Given the description of an element on the screen output the (x, y) to click on. 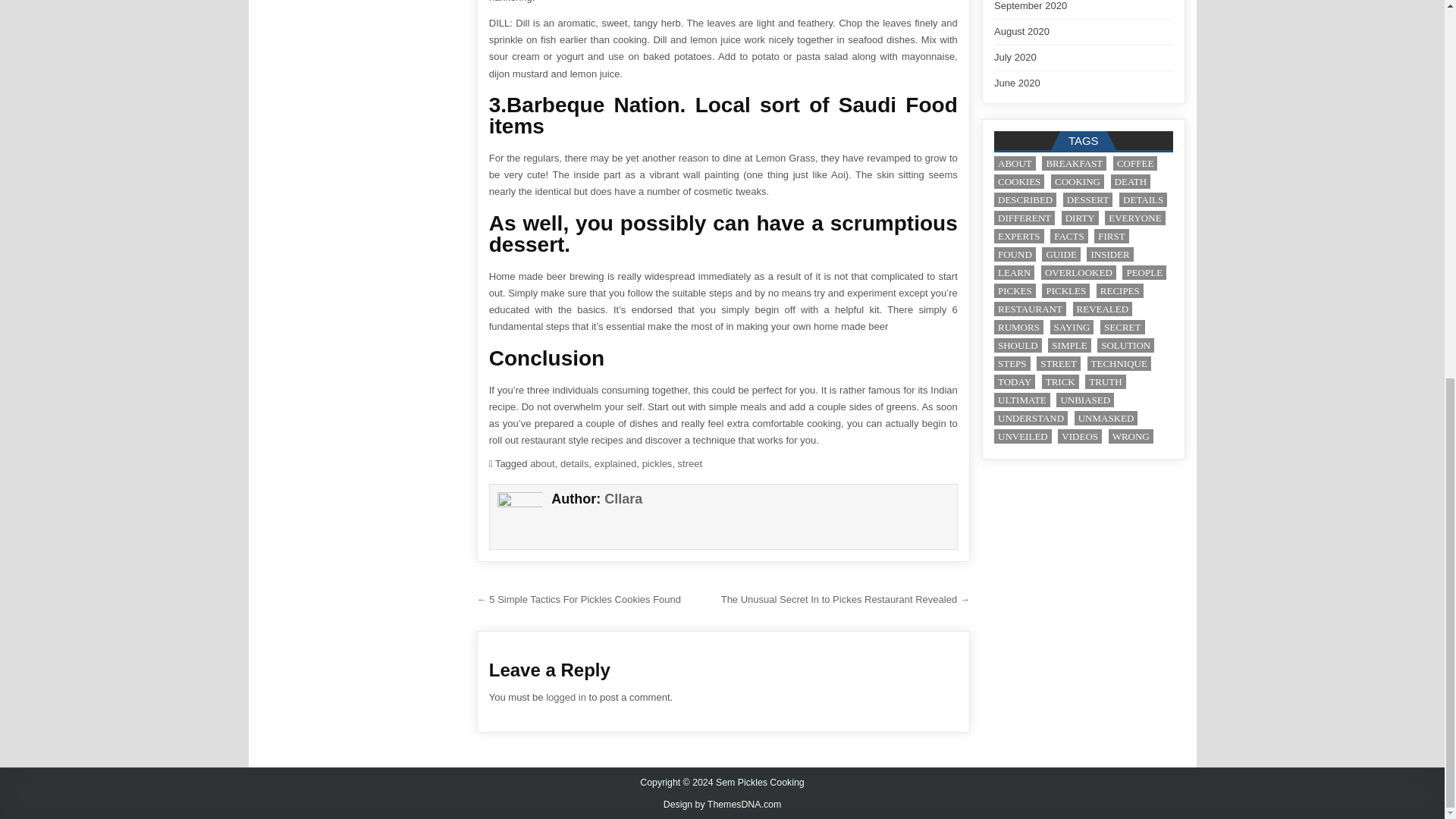
about (541, 463)
details (574, 463)
explained (615, 463)
street (690, 463)
logged in (566, 696)
pickles (657, 463)
Cllara (623, 498)
